Given the description of an element on the screen output the (x, y) to click on. 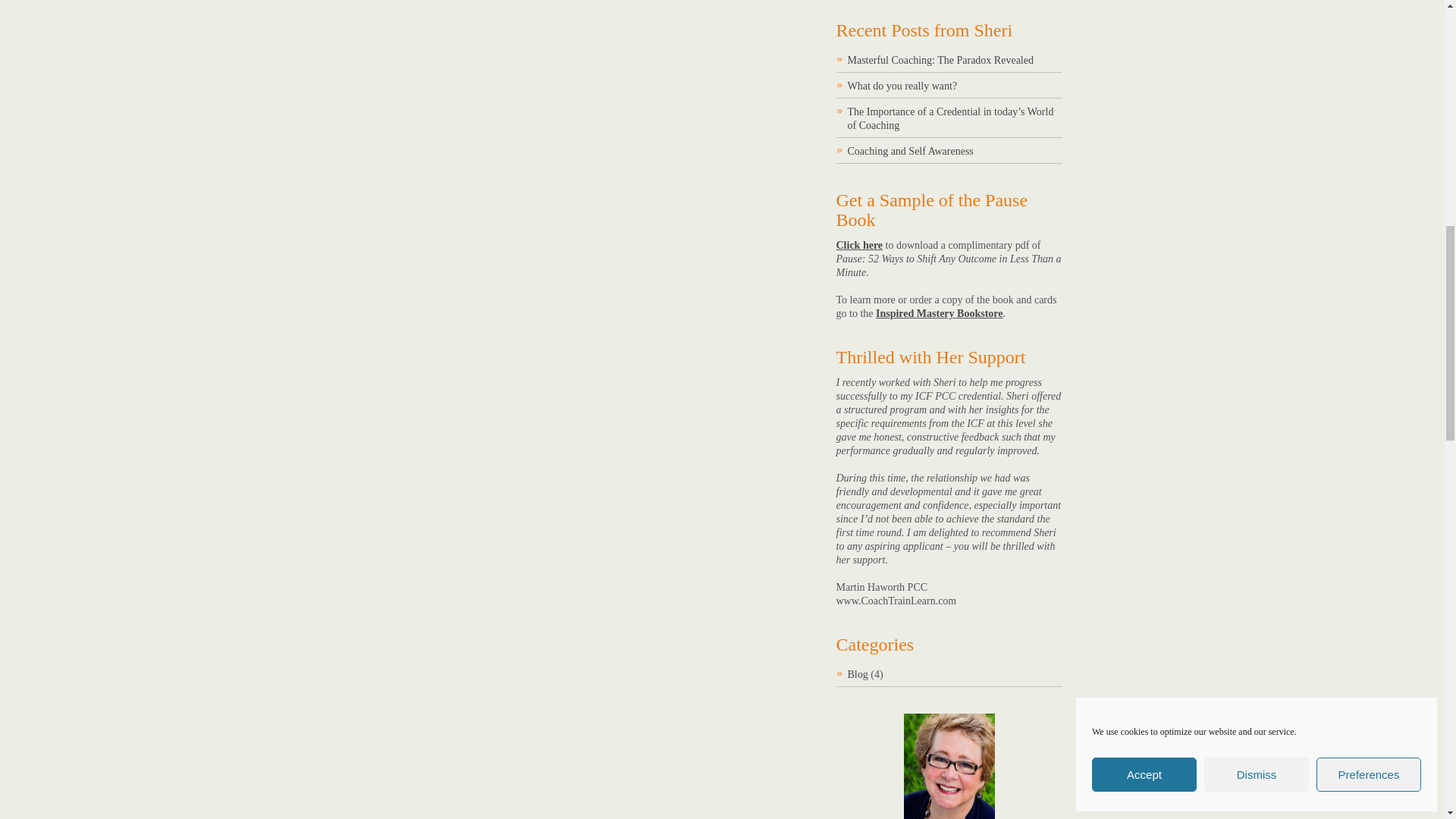
Sheri Boone (949, 766)
